Given the description of an element on the screen output the (x, y) to click on. 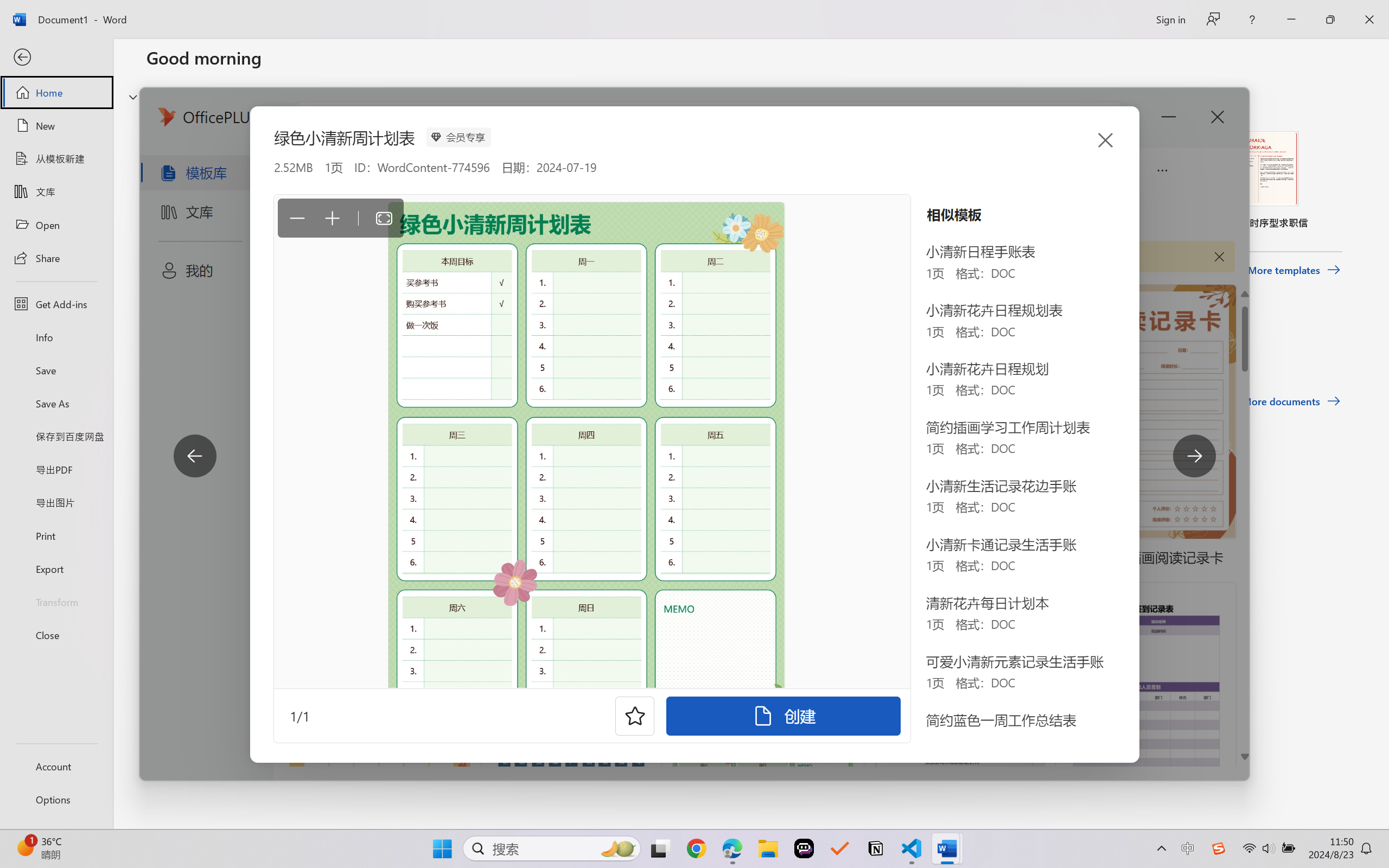
Create your Google Account (333, 12)
